Given the description of an element on the screen output the (x, y) to click on. 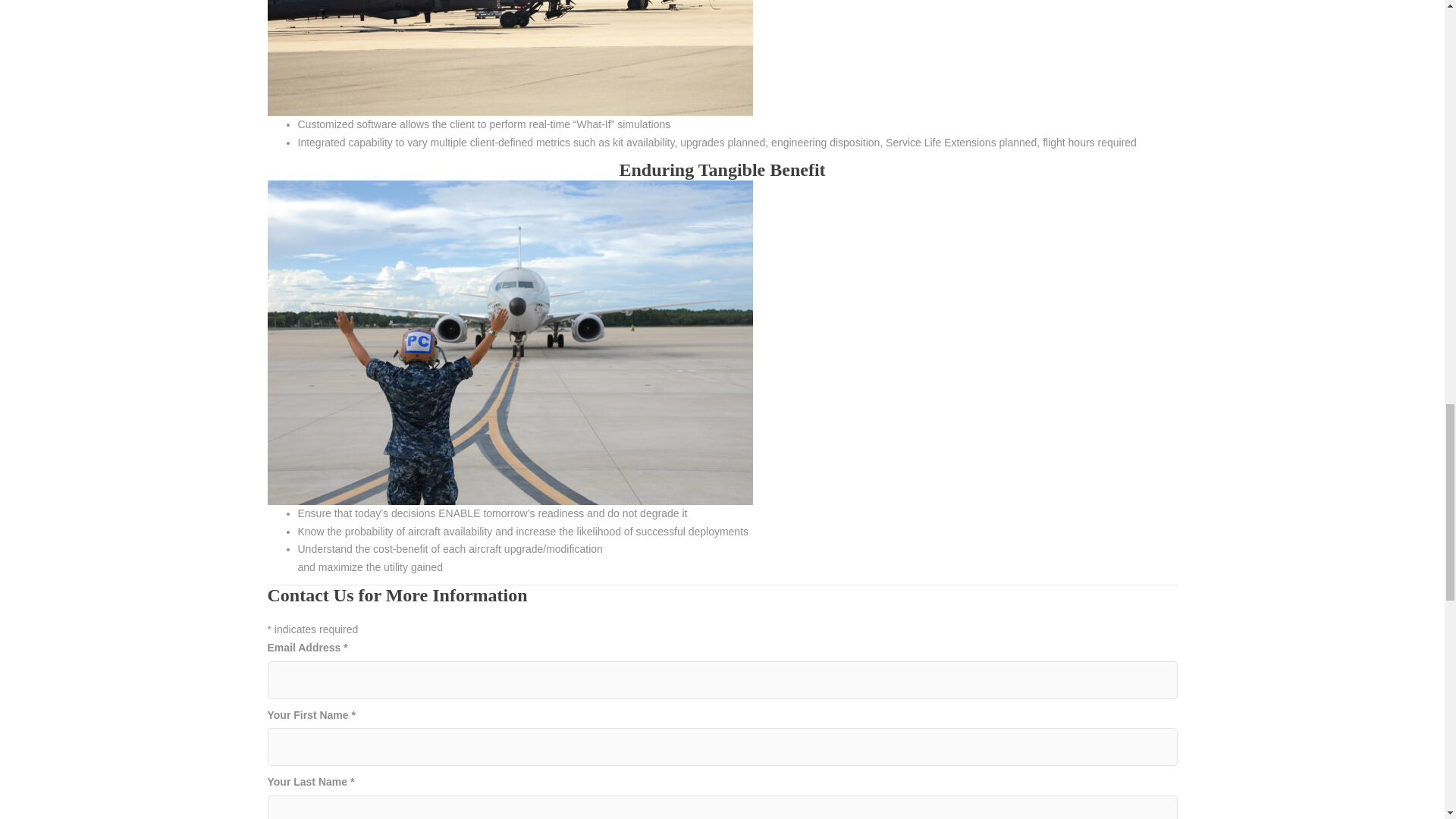
AH-64 Apache Helicopter (509, 58)
